Given the description of an element on the screen output the (x, y) to click on. 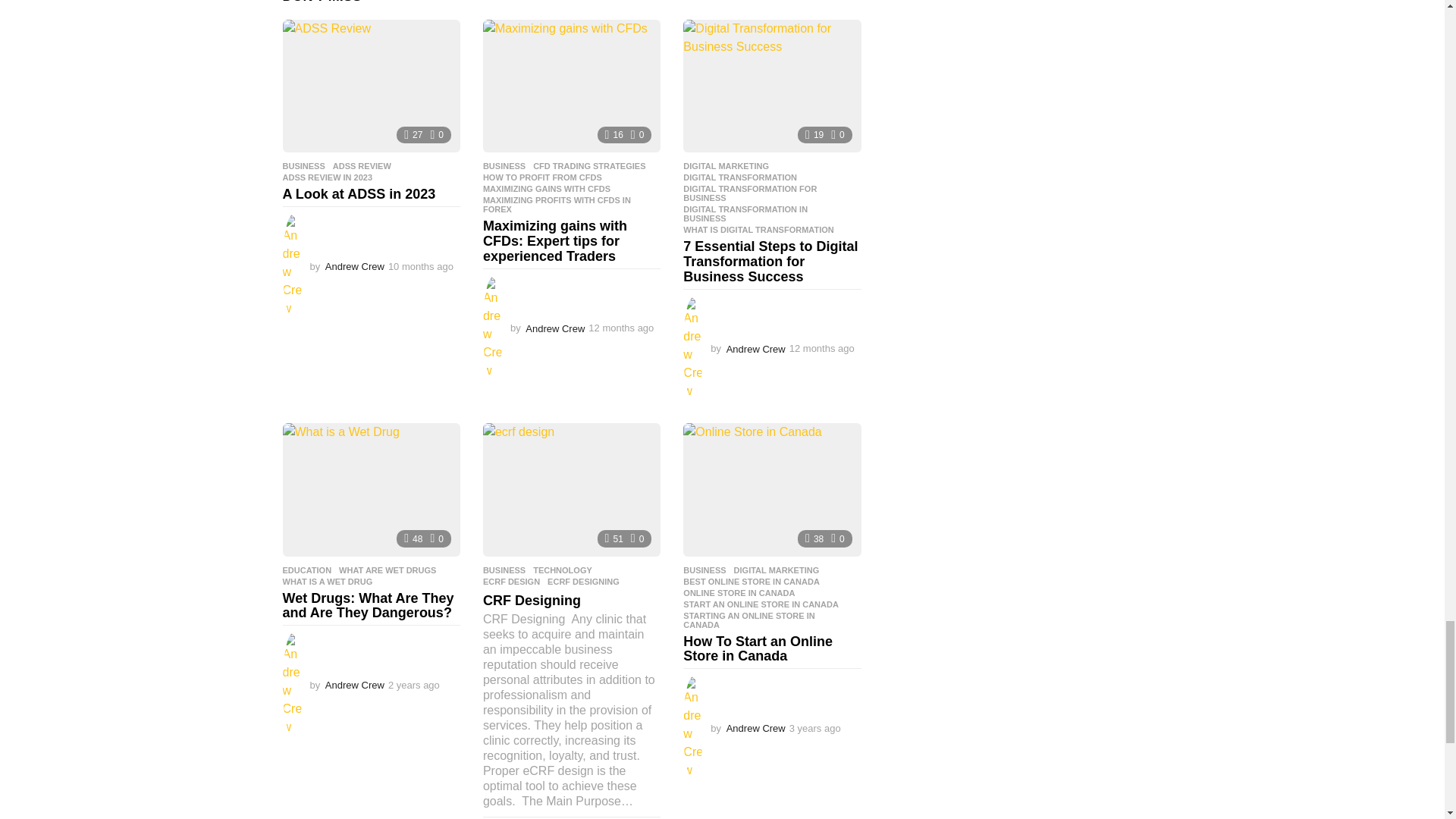
Wet Drugs: What Are They and Are They Dangerous? (371, 489)
A Look at ADSS in 2023 (371, 86)
How To Start an Online Store in Canada (771, 489)
CRF Designing (572, 489)
